Given the description of an element on the screen output the (x, y) to click on. 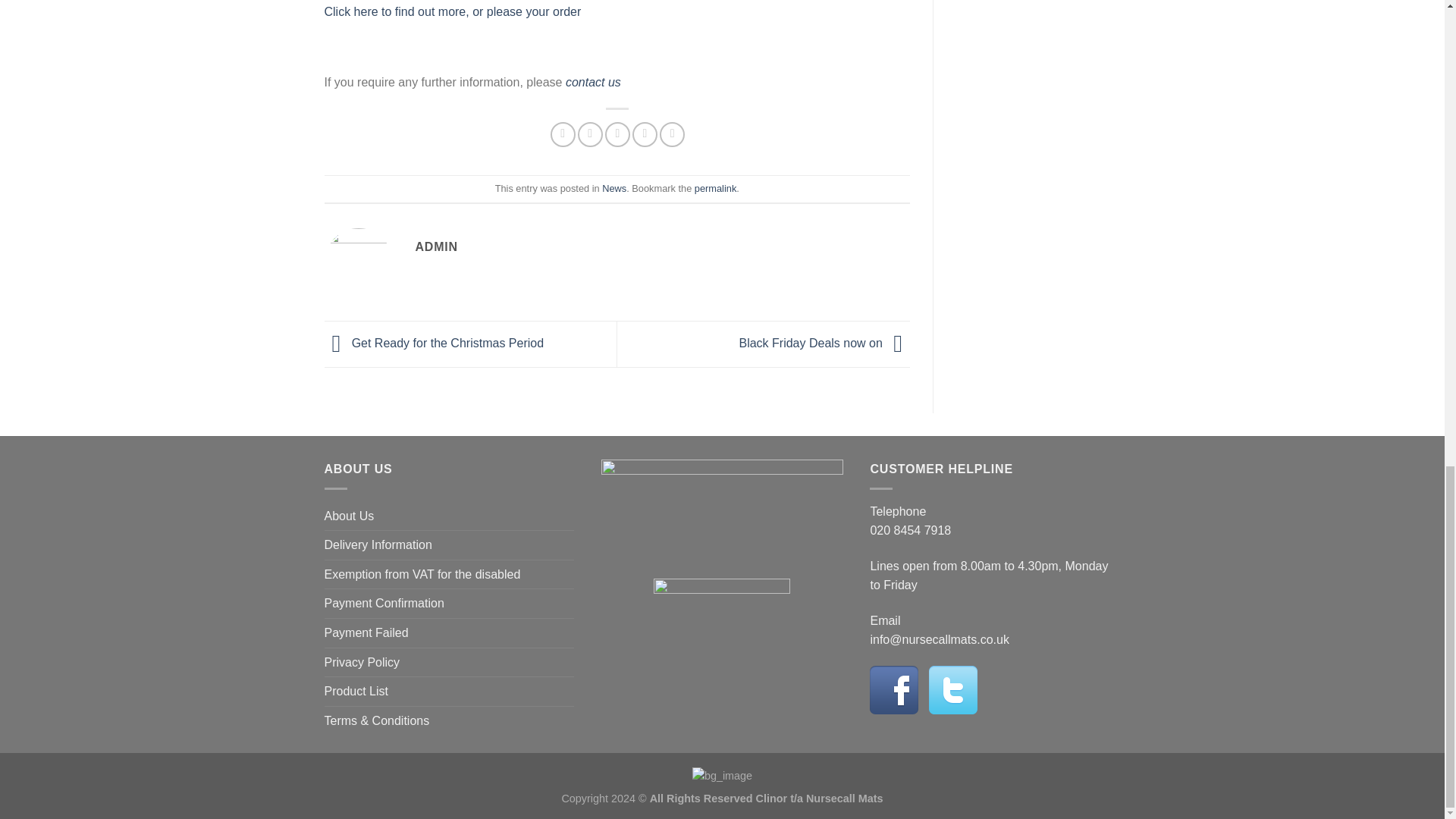
Share on Twitter (590, 134)
Email to a Friend (617, 134)
Pin on Pinterest (644, 134)
Share on Facebook (562, 134)
